Given the description of an element on the screen output the (x, y) to click on. 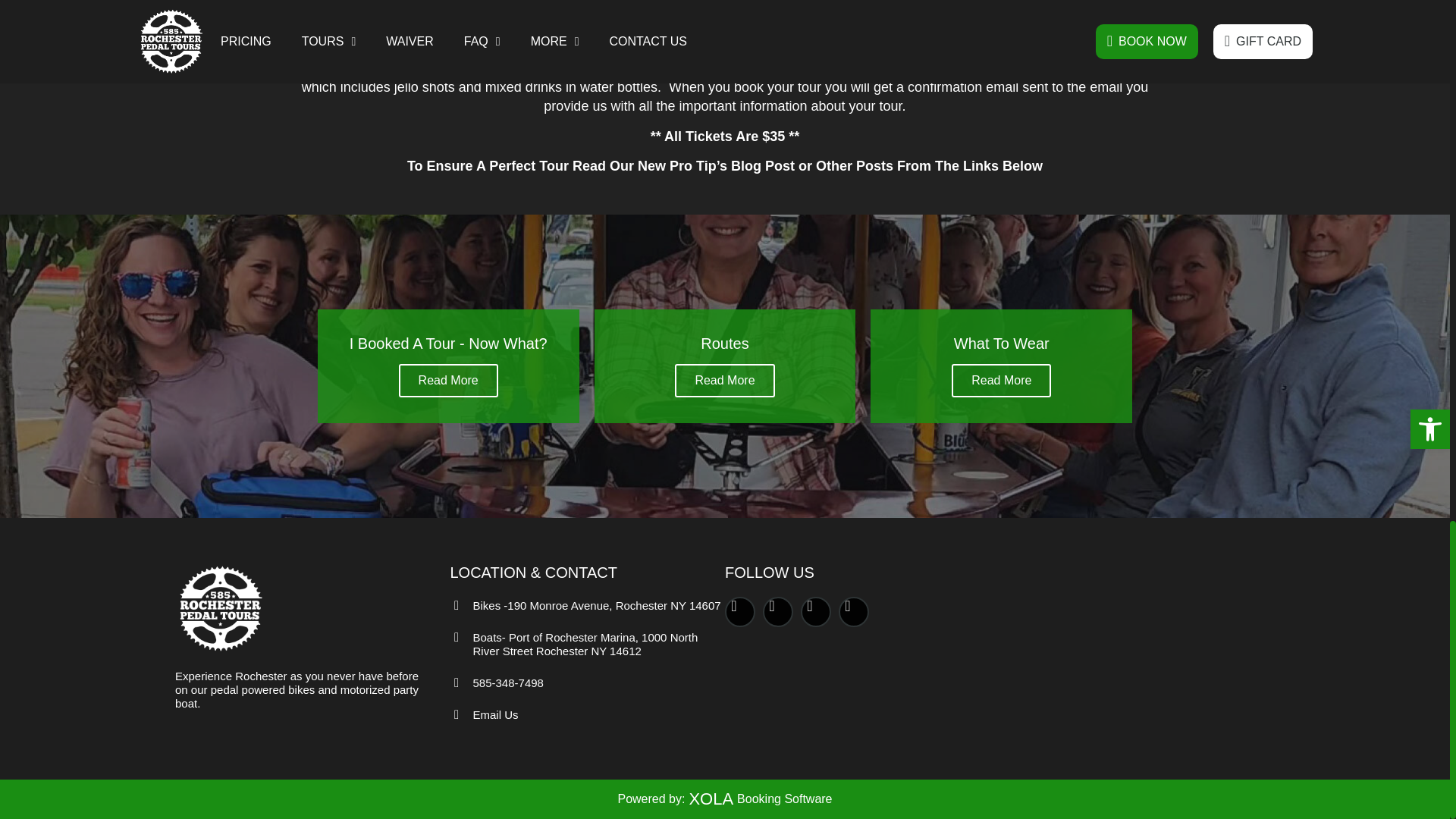
ROCHESTER PEDAL TOURS (1136, 638)
